Given the description of an element on the screen output the (x, y) to click on. 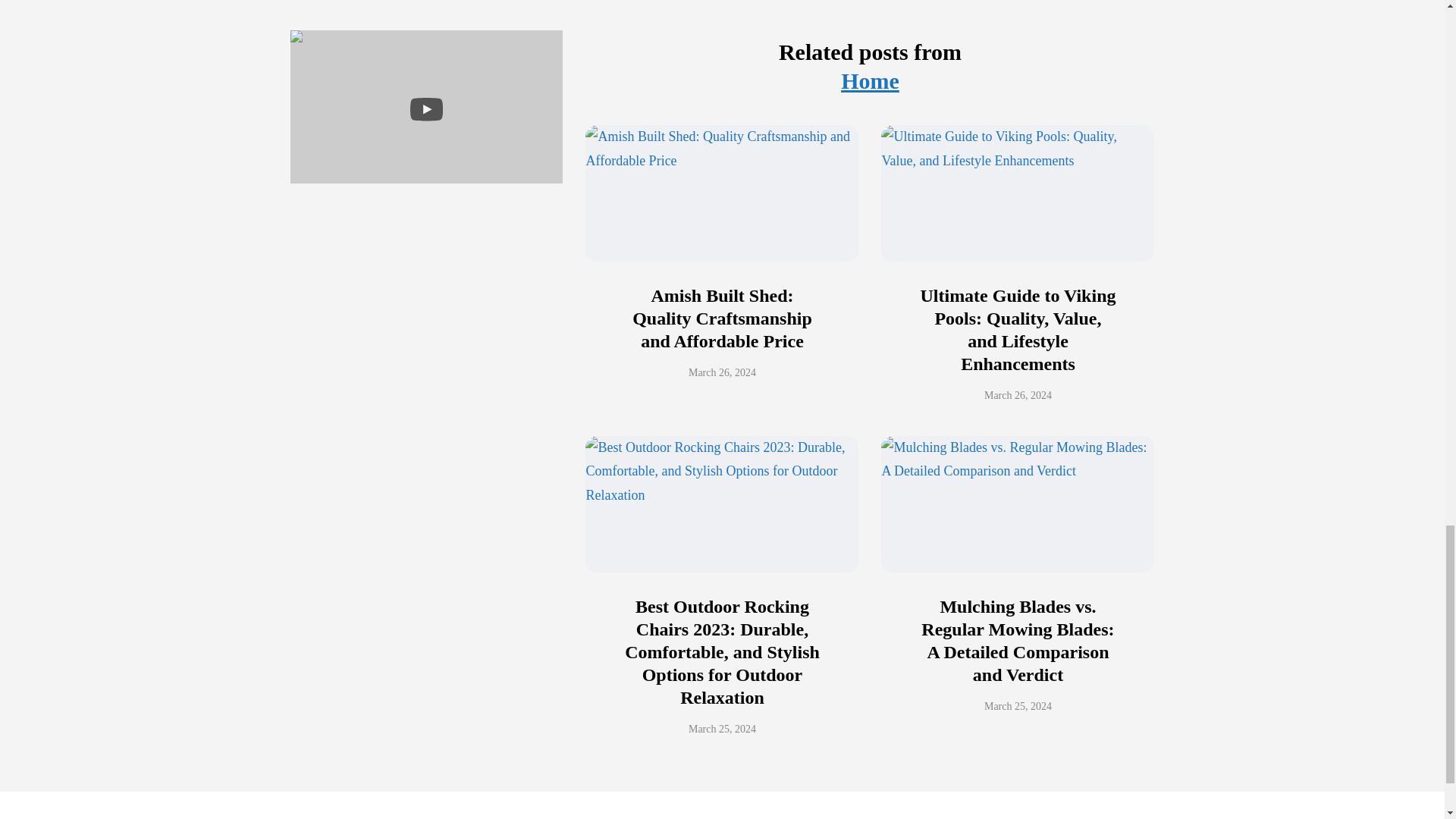
Contact us (318, 818)
Home (870, 80)
Amish Built Shed: Quality Craftsmanship and Affordable Price (721, 318)
